Given the description of an element on the screen output the (x, y) to click on. 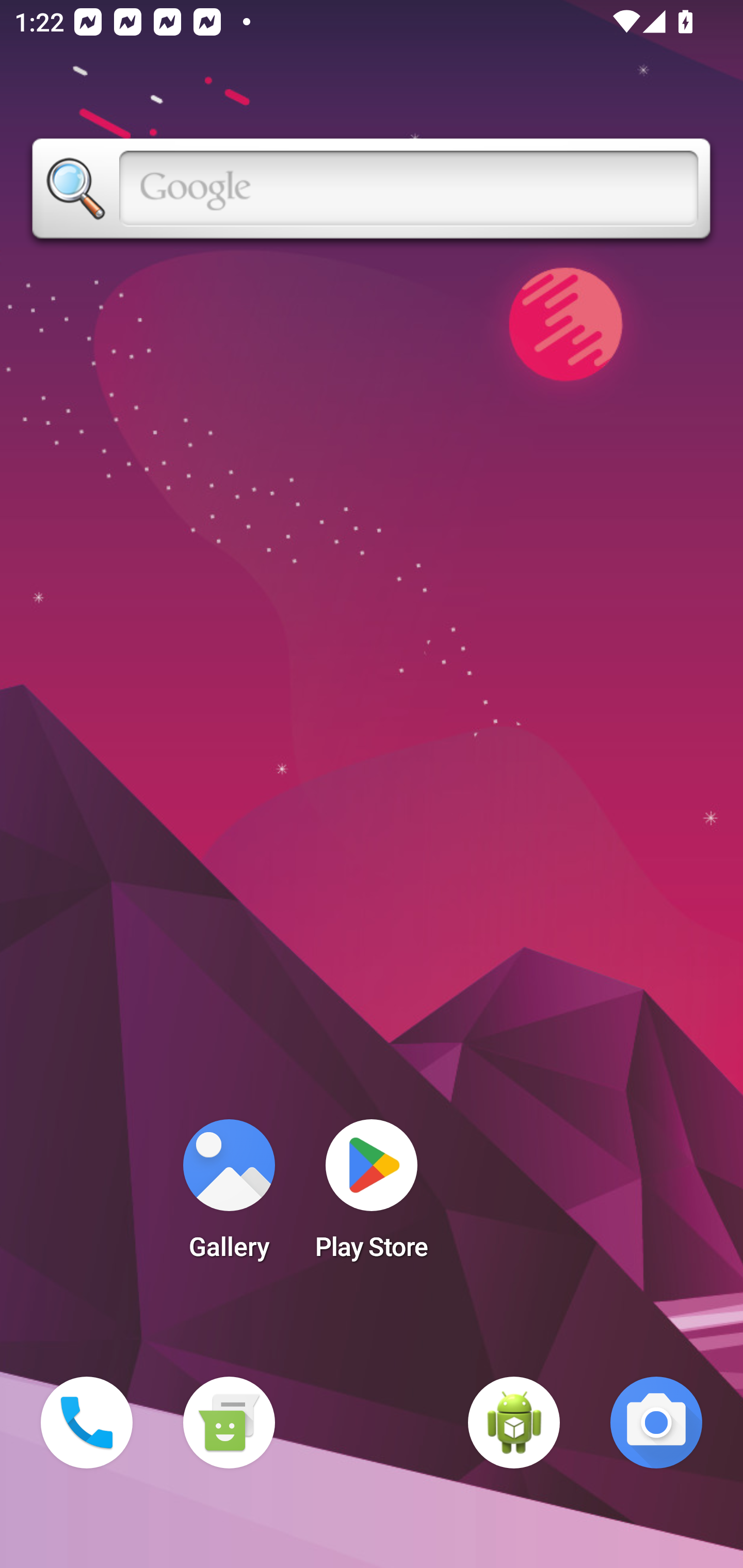
Gallery (228, 1195)
Play Store (371, 1195)
Phone (86, 1422)
Messaging (228, 1422)
WebView Browser Tester (513, 1422)
Camera (656, 1422)
